Given the description of an element on the screen output the (x, y) to click on. 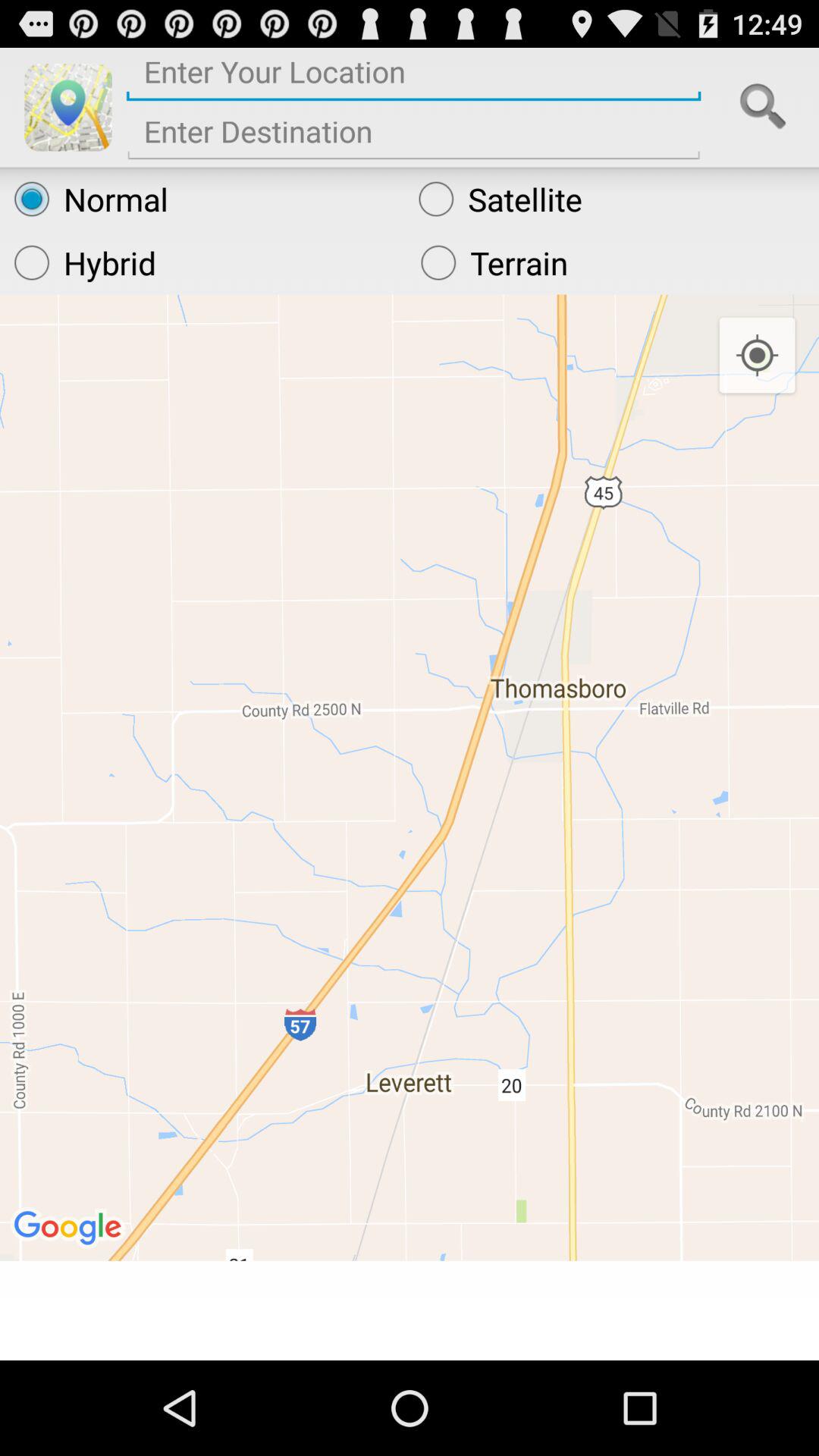
open the item to the left of the terrain (203, 262)
